Given the description of an element on the screen output the (x, y) to click on. 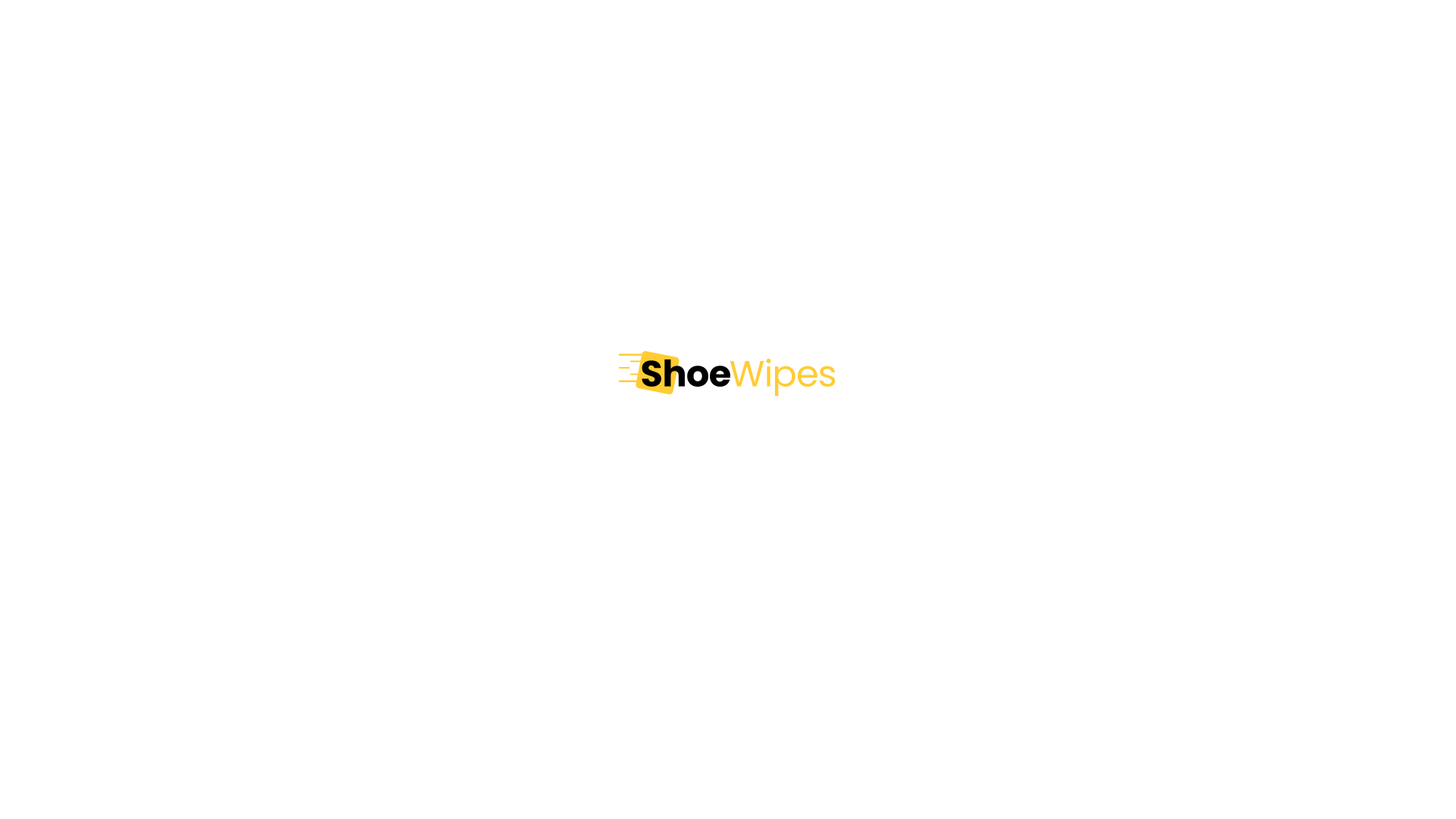
Shoe Wipes Element type: hover (727, 372)
